Given the description of an element on the screen output the (x, y) to click on. 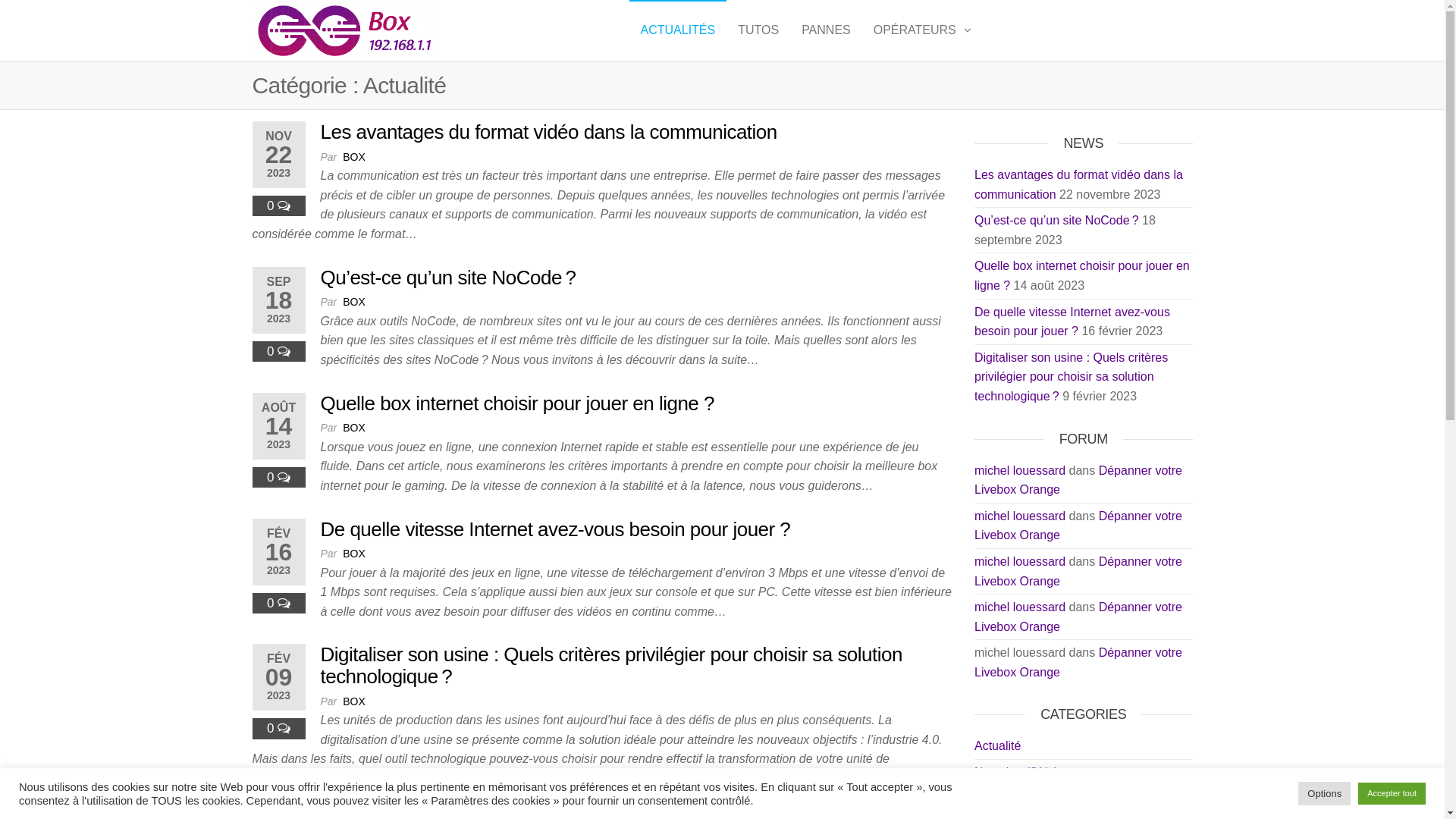
BOX Element type: text (353, 553)
michel louessard Element type: text (1019, 515)
0 Element type: text (271, 603)
Quelle box internet choisir pour jouer en ligne ? Element type: text (1081, 275)
De quelle vitesse Internet avez-vous besoin pour jouer ? Element type: text (555, 528)
0 Element type: text (271, 351)
michel louessard Element type: text (1019, 470)
Accepter tout Element type: text (1391, 793)
BOX Element type: text (353, 156)
192.168 1.1 Element type: text (501, 25)
0 Element type: text (271, 477)
Quelle box internet choisir pour jouer en ligne ? Element type: text (516, 403)
TUTOS Element type: text (758, 30)
0 Element type: text (271, 205)
michel louessard Element type: text (1019, 561)
0 Element type: text (271, 728)
BOX Element type: text (353, 301)
Panne Element type: text (991, 798)
michel louessard Element type: text (1019, 606)
Options Element type: text (1324, 793)
De quelle vitesse Internet avez-vous besoin pour jouer ? Element type: text (1072, 321)
BOX Element type: text (353, 701)
PANNES Element type: text (826, 30)
BOX Element type: text (353, 427)
